Given the description of an element on the screen output the (x, y) to click on. 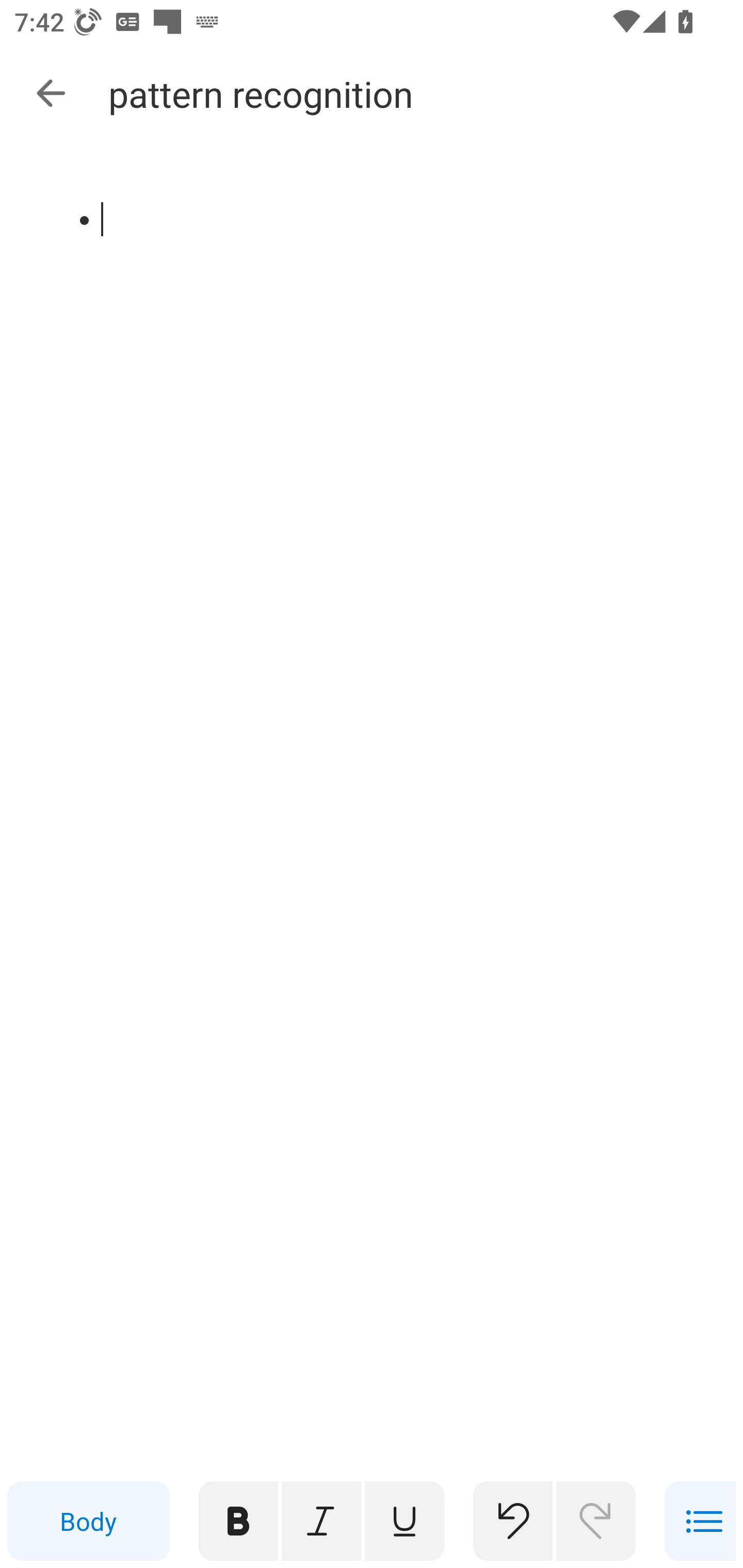
Dismiss detail view (50, 93)
pattern recognition (374, 195)
Body Font style button body (88, 1520)
Bold (237, 1520)
Italic (321, 1520)
Underline (404, 1520)
Undo (512, 1520)
Redo (596, 1520)
Bullet (699, 1520)
